Given the description of an element on the screen output the (x, y) to click on. 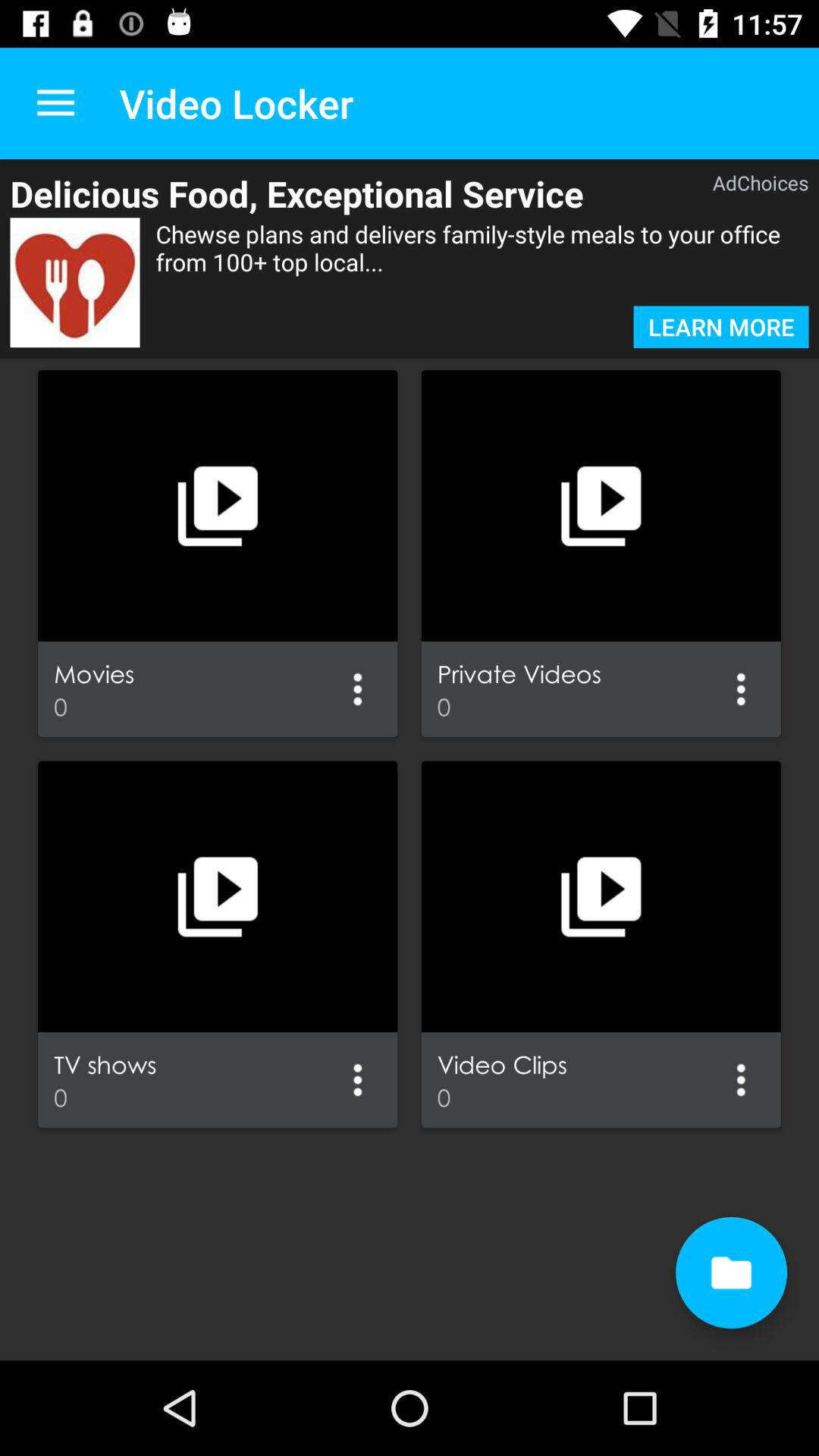
option (357, 689)
